Given the description of an element on the screen output the (x, y) to click on. 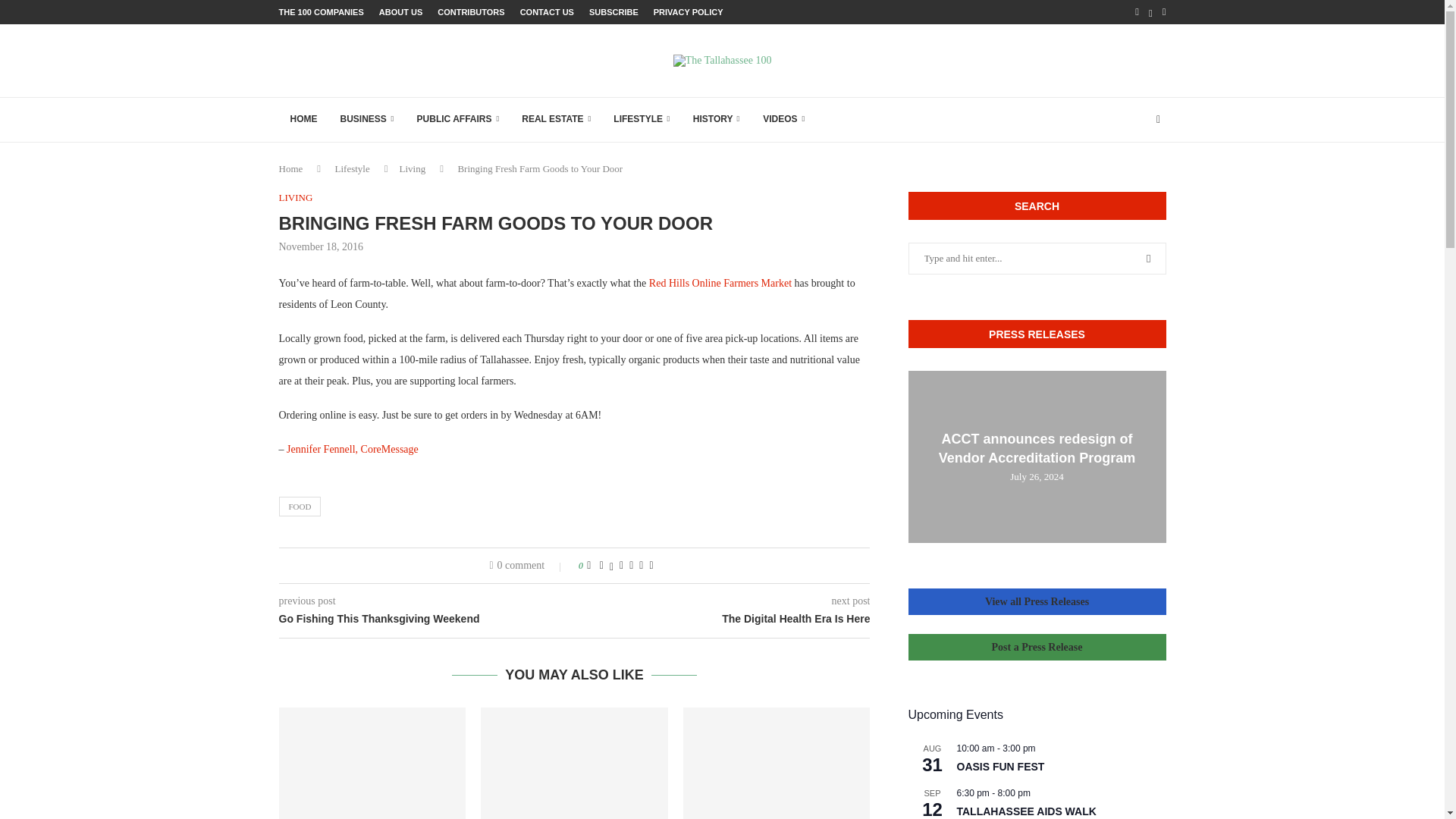
Lifestyle (351, 168)
CONTRIBUTORS (470, 12)
HISTORY (716, 119)
The Digital Health Era Is Here (722, 619)
PRIVACY POLICY (688, 12)
VIDEOS (783, 119)
CONTACT US (546, 12)
Red Hills Online Farmers Market (720, 283)
LIFESTYLE (641, 119)
PUBLIC AFFAIRS (458, 119)
